Given the description of an element on the screen output the (x, y) to click on. 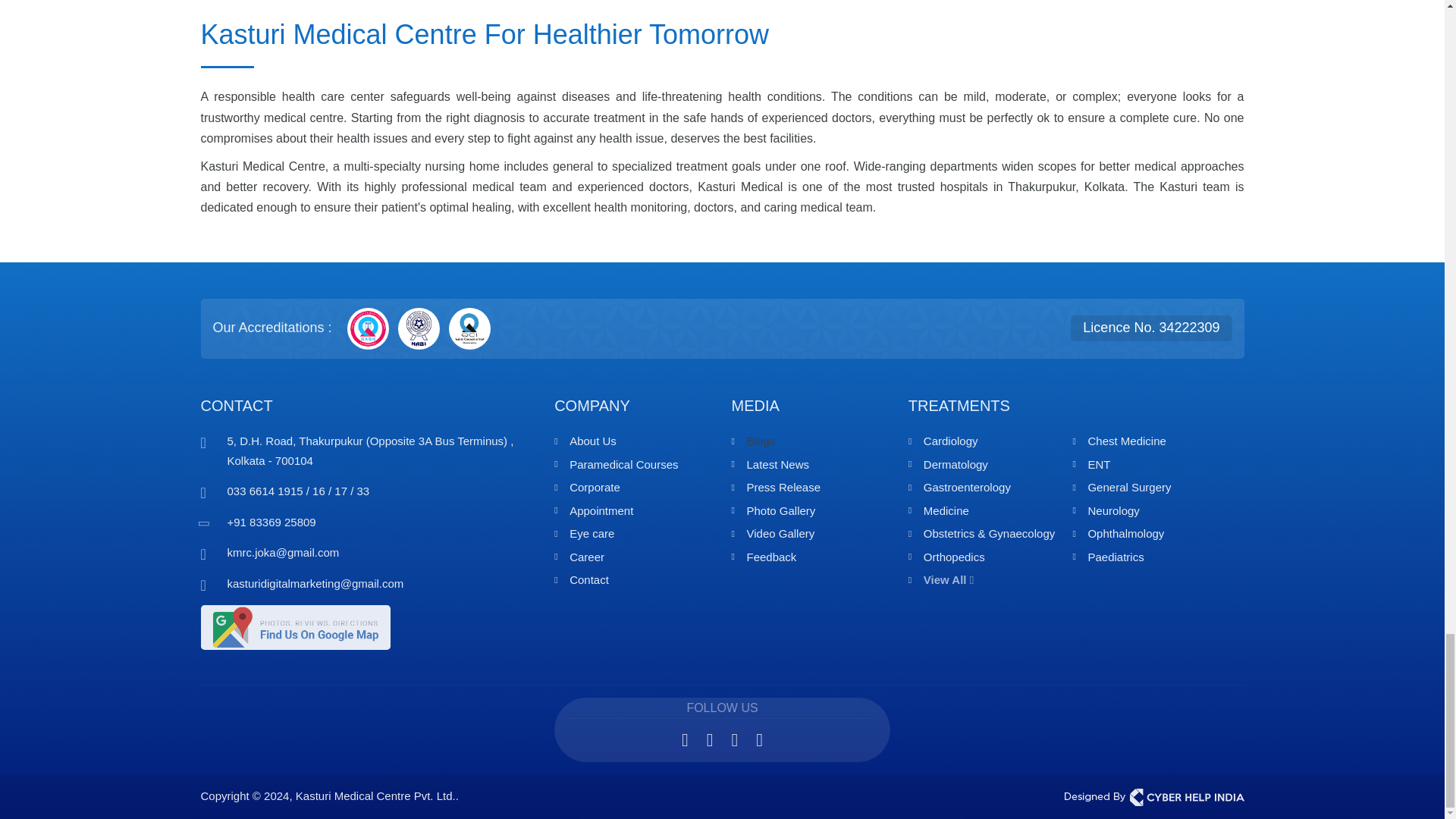
Cyber Help India (1154, 796)
QCI Membership (469, 328)
NABL Certified (418, 328)
NABH Certified (367, 328)
